Given the description of an element on the screen output the (x, y) to click on. 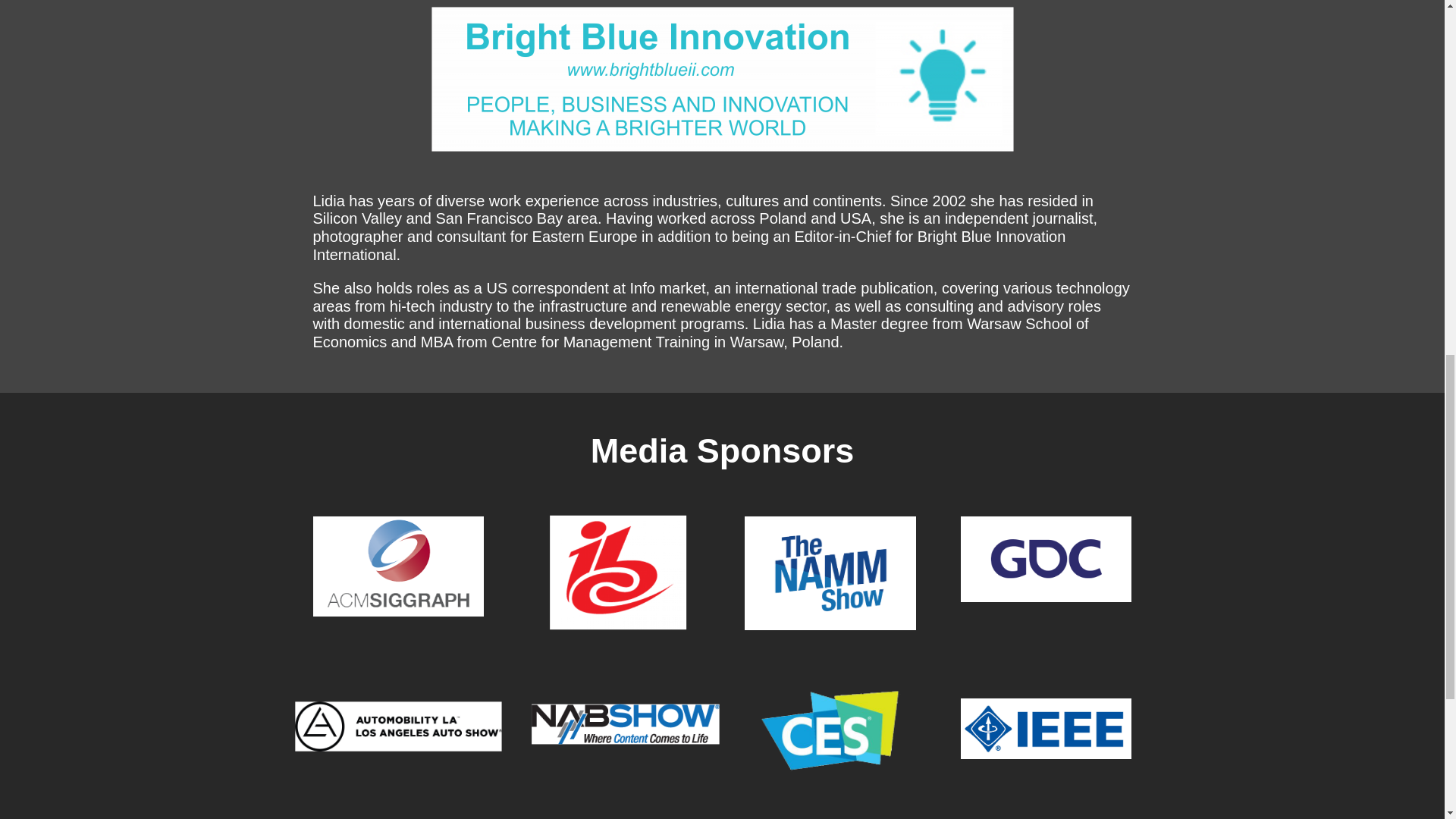
NabShow (616, 721)
Auto (380, 721)
BBI Banner (721, 78)
